Given the description of an element on the screen output the (x, y) to click on. 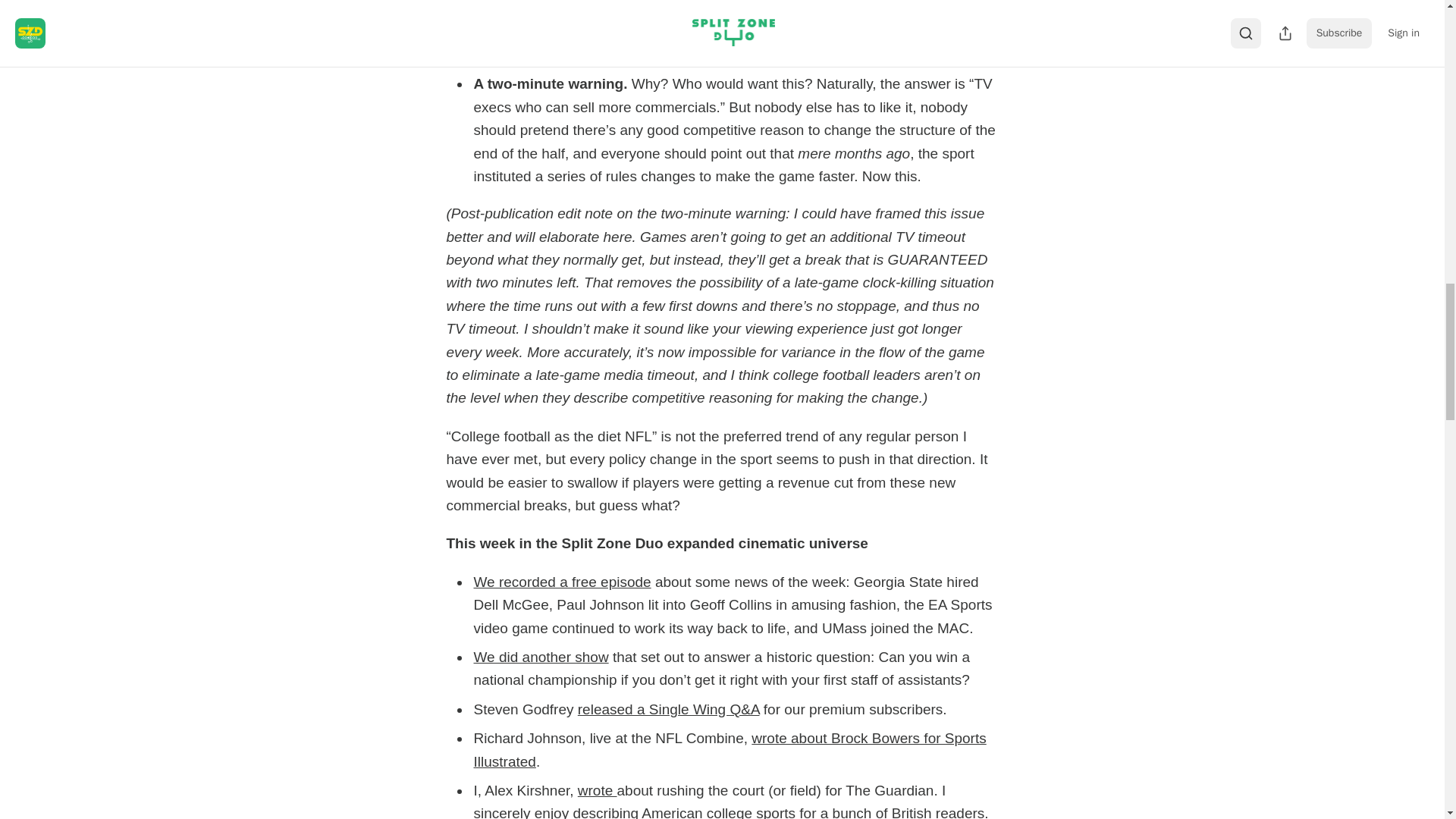
We recorded a free episode (561, 581)
wrote (597, 790)
We did another show (540, 657)
wrote about Brock Bowers for Sports Illustrated (729, 749)
